Given the description of an element on the screen output the (x, y) to click on. 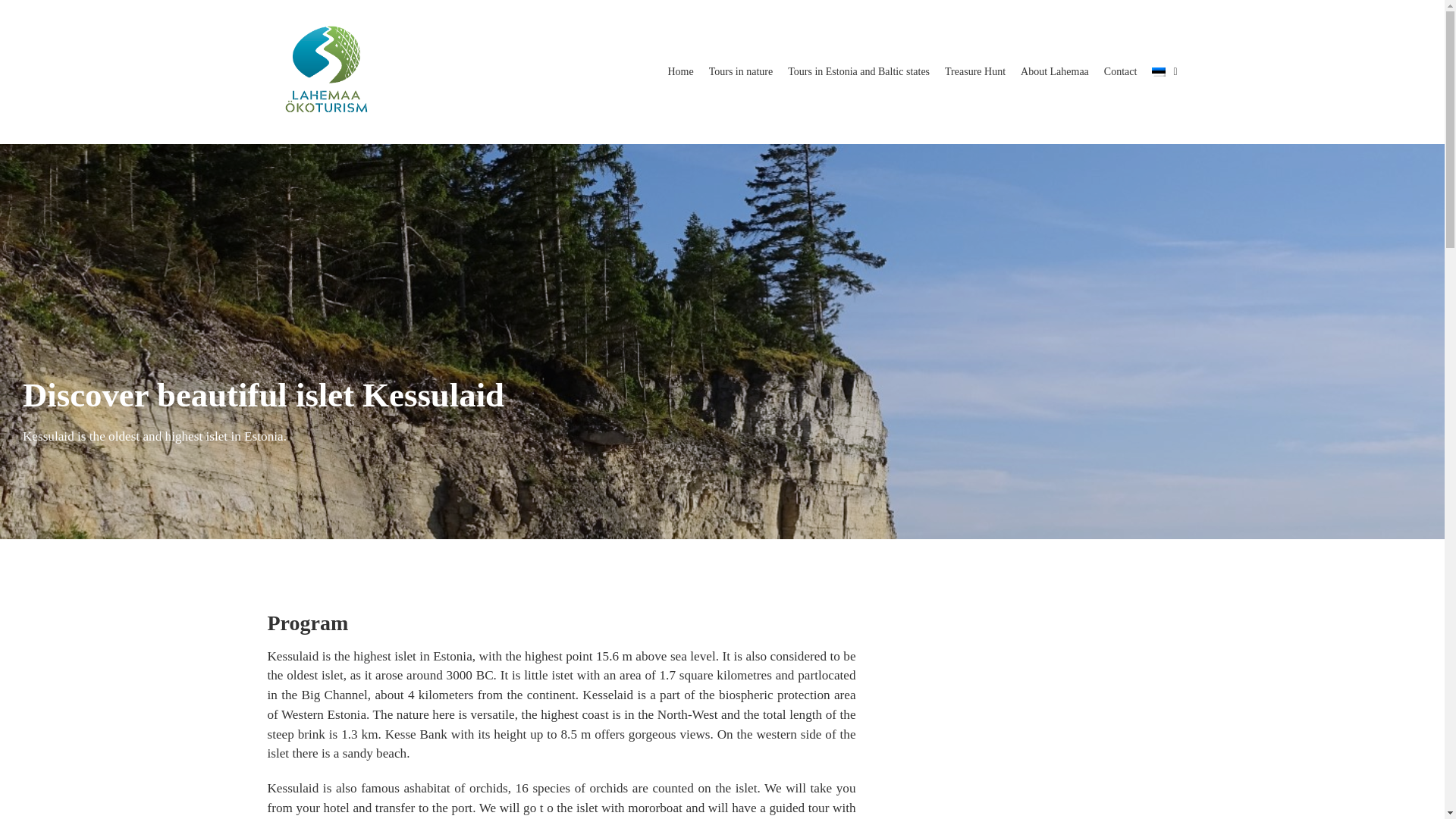
Tours in Estonia and Baltic states (858, 72)
